Given the description of an element on the screen output the (x, y) to click on. 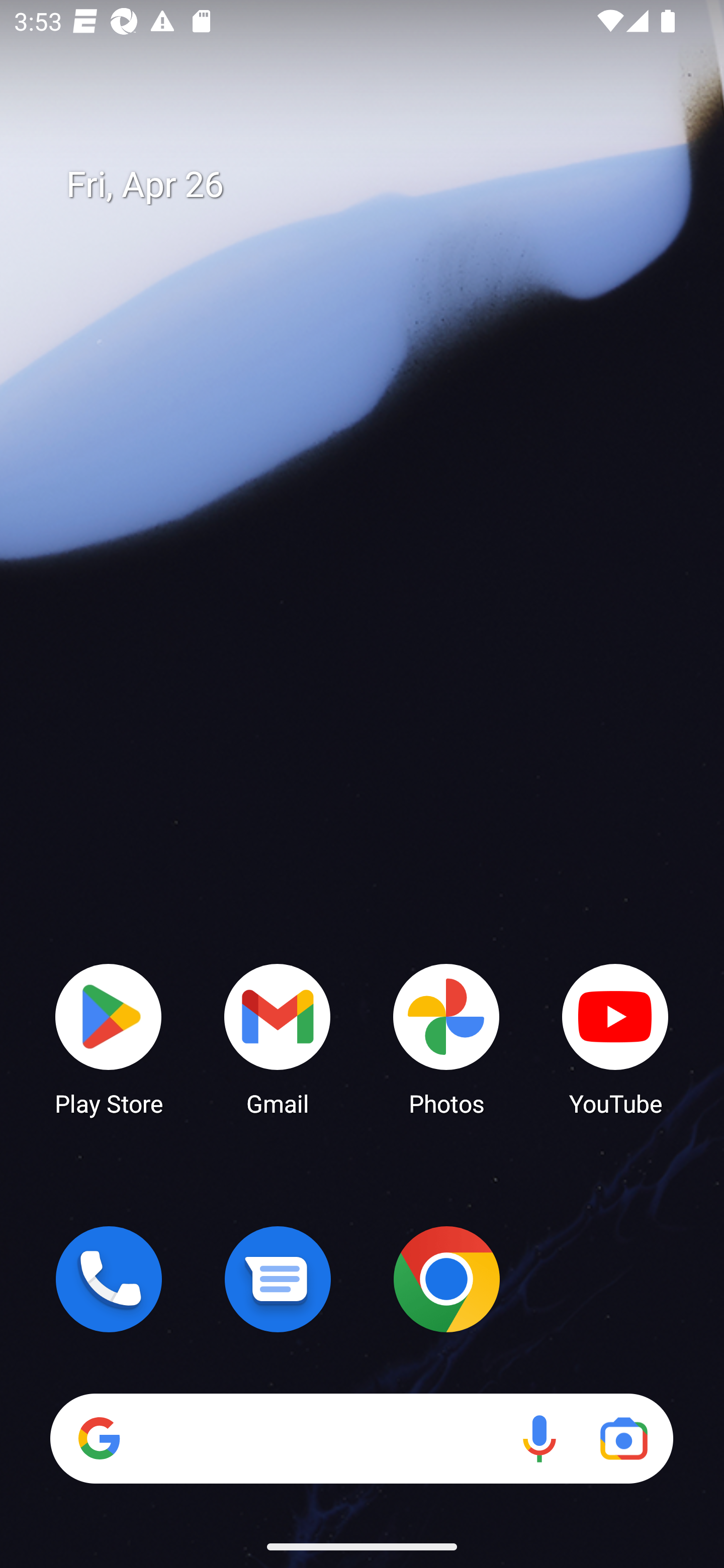
Fri, Apr 26 (375, 184)
Play Store (108, 1038)
Gmail (277, 1038)
Photos (445, 1038)
YouTube (615, 1038)
Phone (108, 1279)
Messages (277, 1279)
Chrome (446, 1279)
Search Voice search Google Lens (361, 1438)
Voice search (539, 1438)
Google Lens (623, 1438)
